Given the description of an element on the screen output the (x, y) to click on. 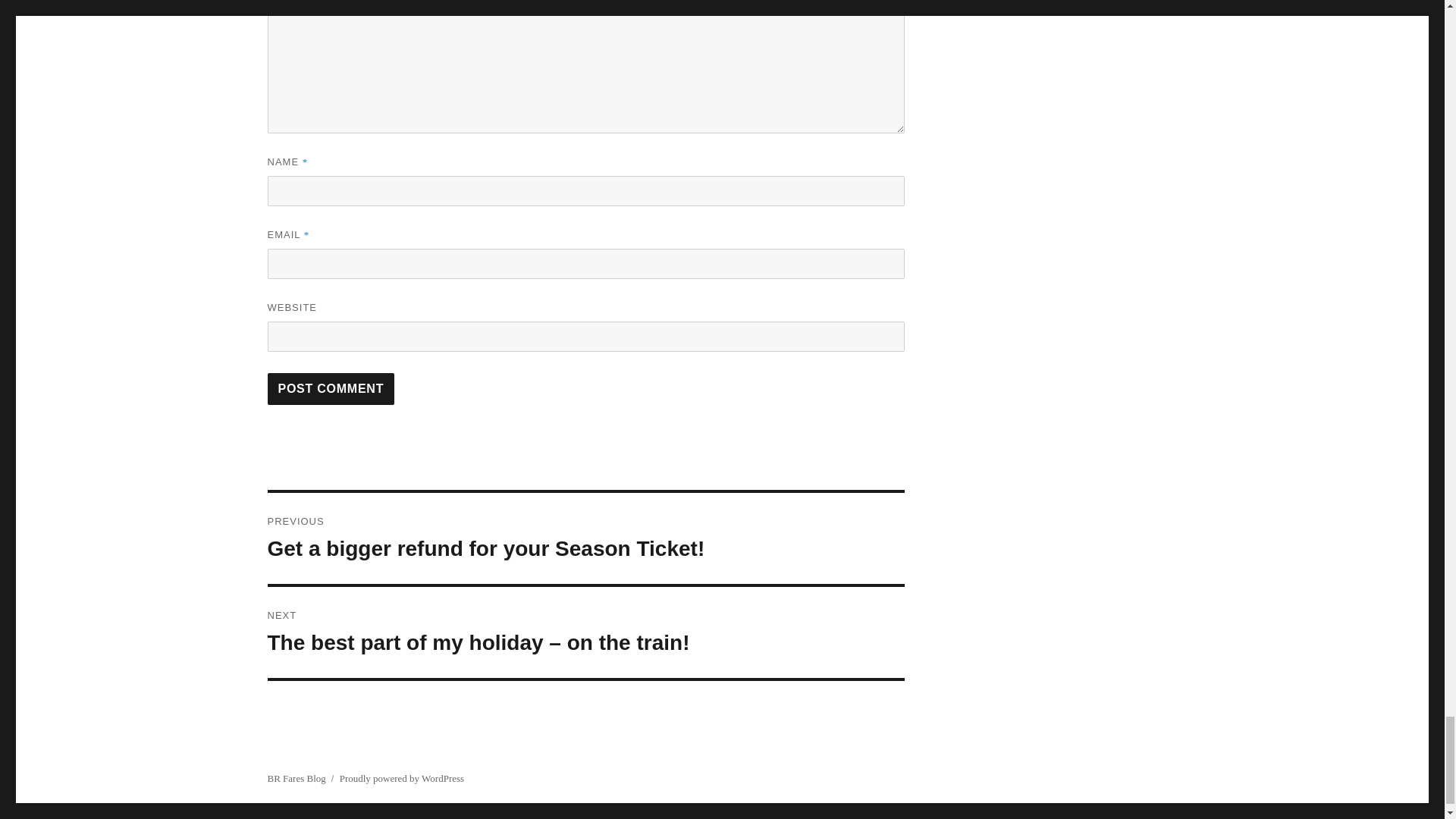
Post Comment (330, 388)
Post Comment (330, 388)
